Given the description of an element on the screen output the (x, y) to click on. 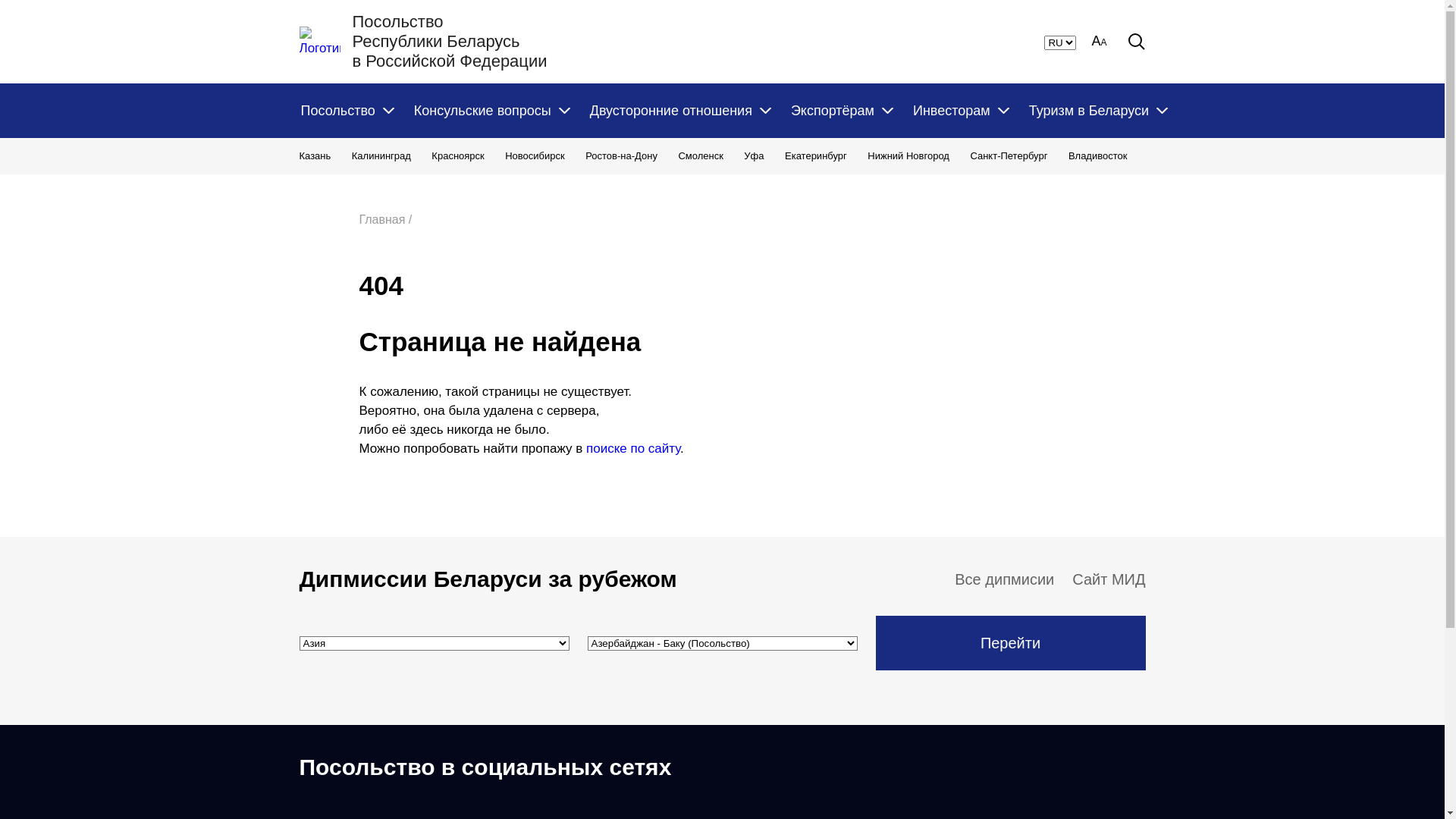
AA Element type: text (1098, 41)
